Given the description of an element on the screen output the (x, y) to click on. 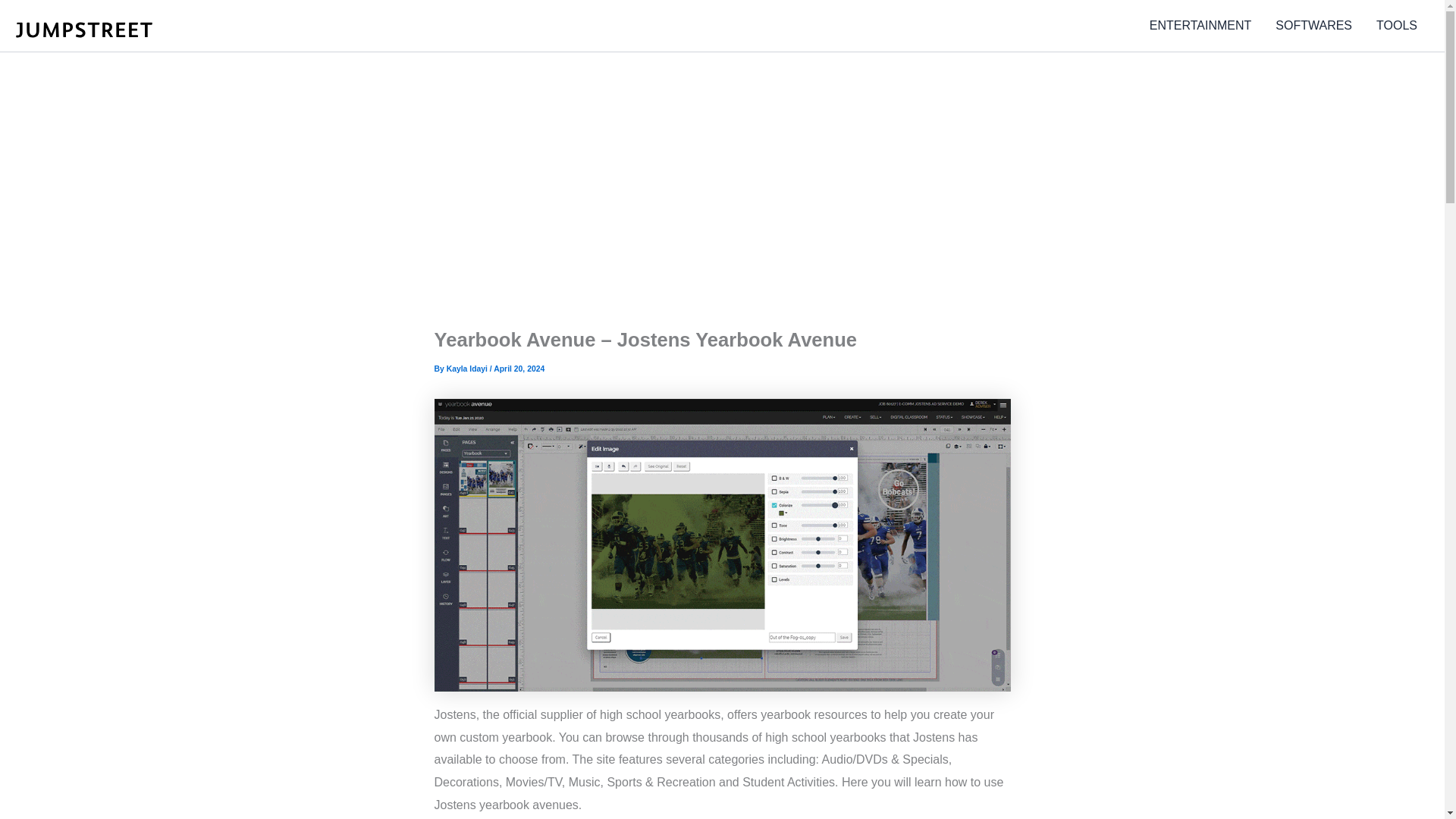
ENTERTAINMENT (1200, 25)
TOOLS (1396, 25)
View all posts by Kayla Idayi (467, 368)
SOFTWARES (1313, 25)
Kayla Idayi (467, 368)
